Given the description of an element on the screen output the (x, y) to click on. 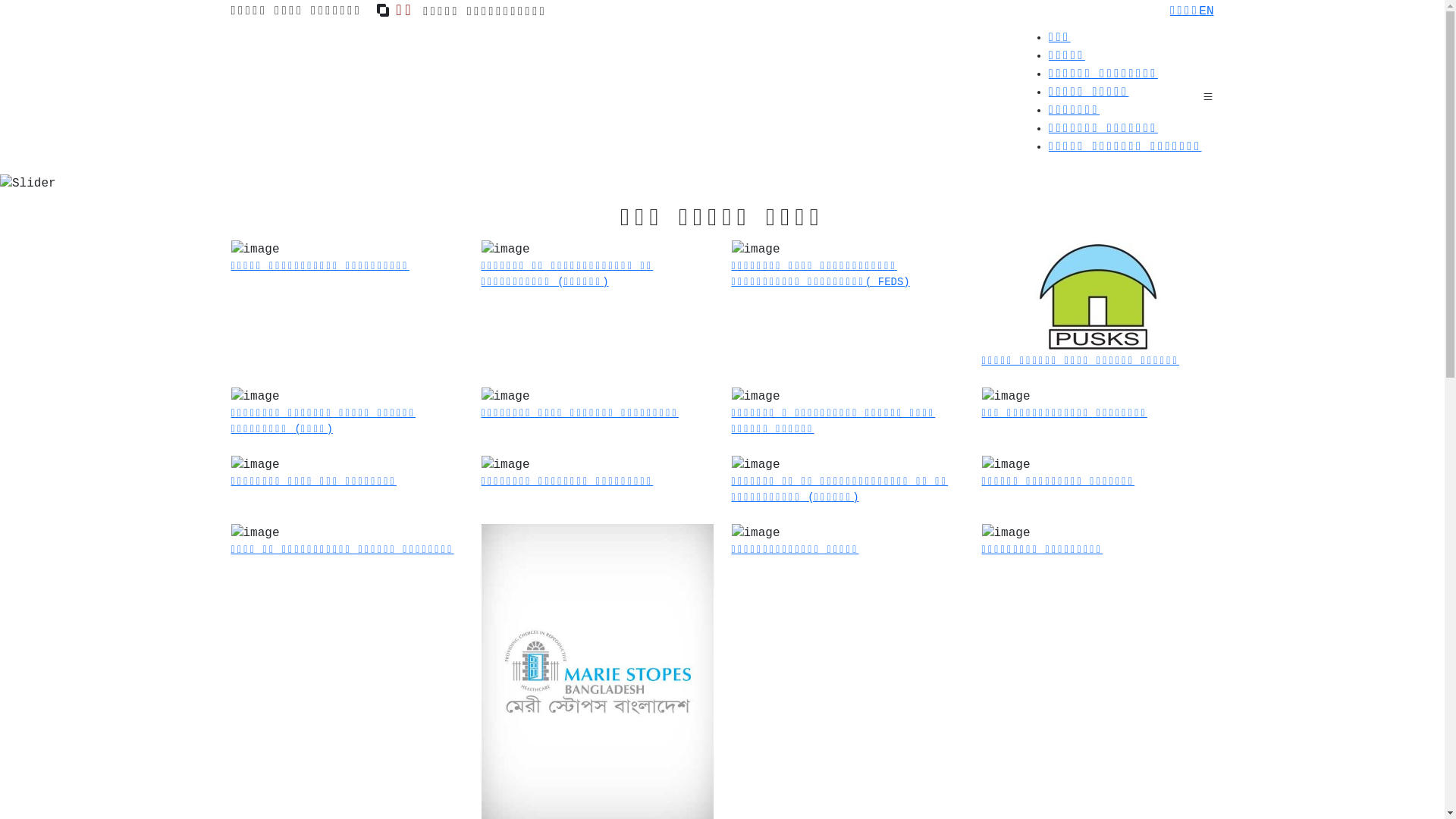
EN Element type: text (1205, 11)
